Given the description of an element on the screen output the (x, y) to click on. 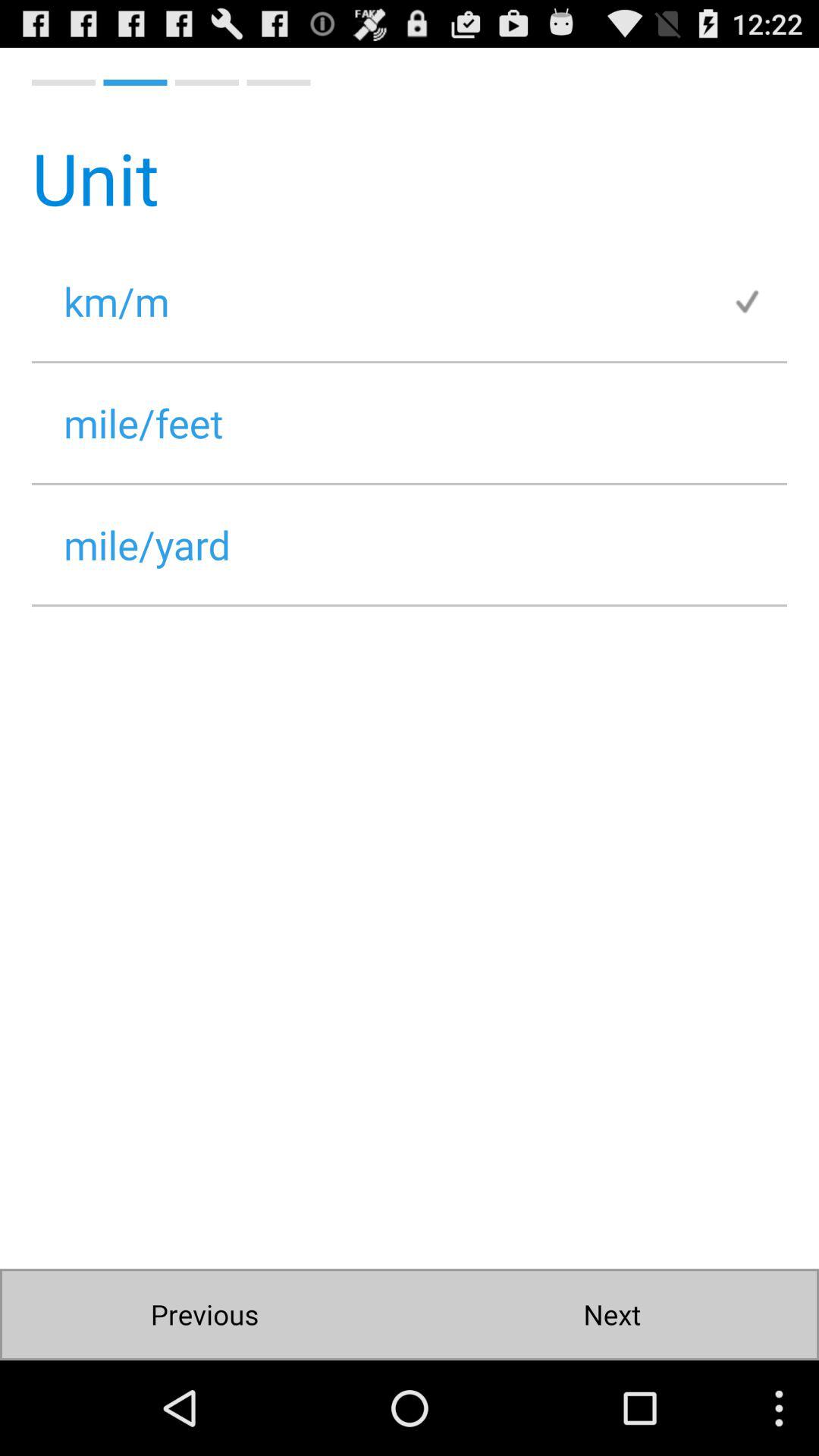
click next icon (611, 1314)
